Given the description of an element on the screen output the (x, y) to click on. 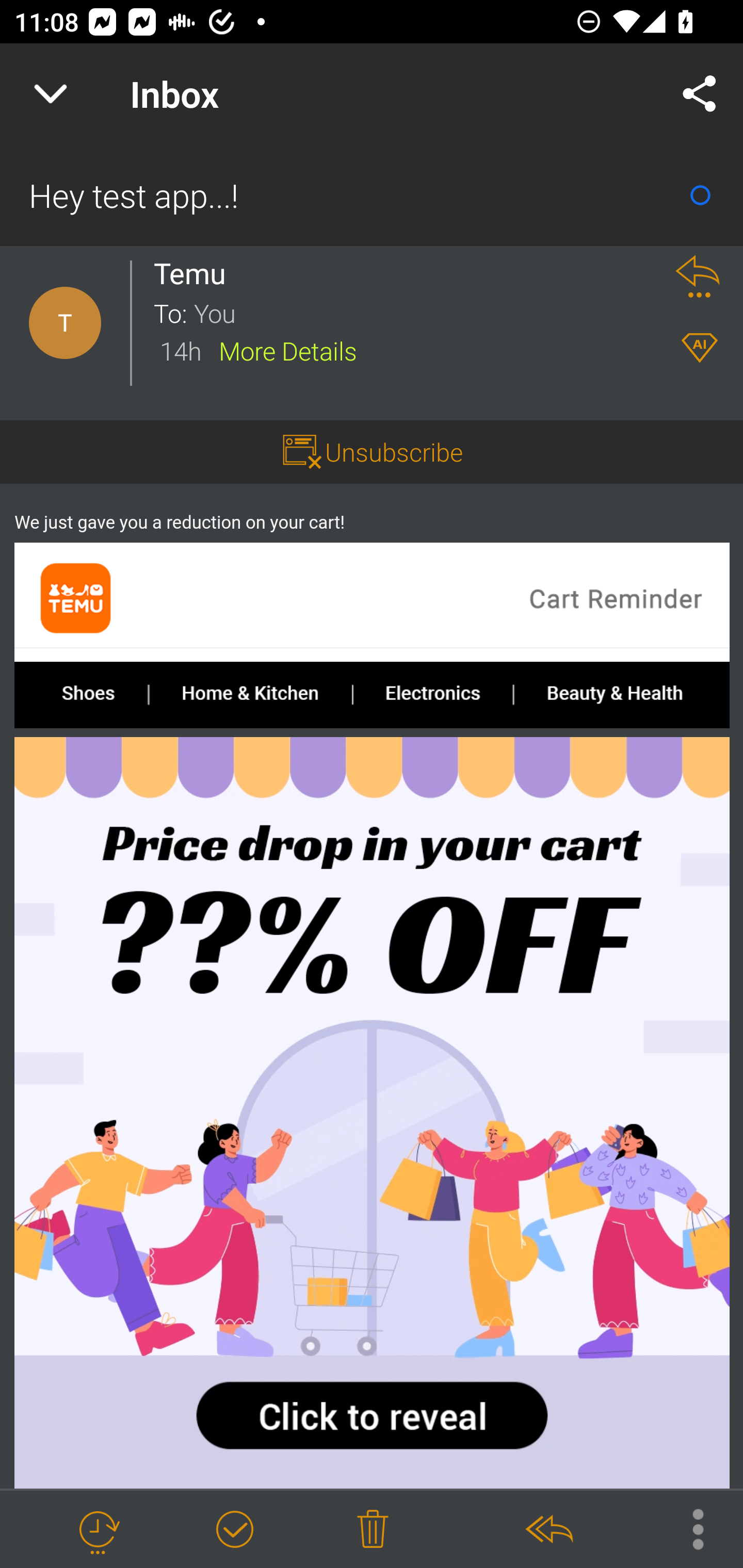
Navigate up (50, 93)
Share (699, 93)
Mark as Read (699, 194)
Temu (195, 273)
Contact Details (64, 322)
You (422, 311)
More Details (287, 349)
Unsubscribe (393, 451)
d408cd15-284c-4d49-9bee-a7ad3e622445.png.slim (372, 600)
168x84x0x0 (80, 694)
257x84x168x0 (249, 694)
201x84x425x0 (431, 694)
274x84x626x0 (621, 694)
e176c3dfcc1d0626fa44ab5f896871a9 (372, 1112)
Snooze (97, 1529)
Mark as Done (234, 1529)
Delete (372, 1529)
Reply All (548, 1529)
